Given the description of an element on the screen output the (x, y) to click on. 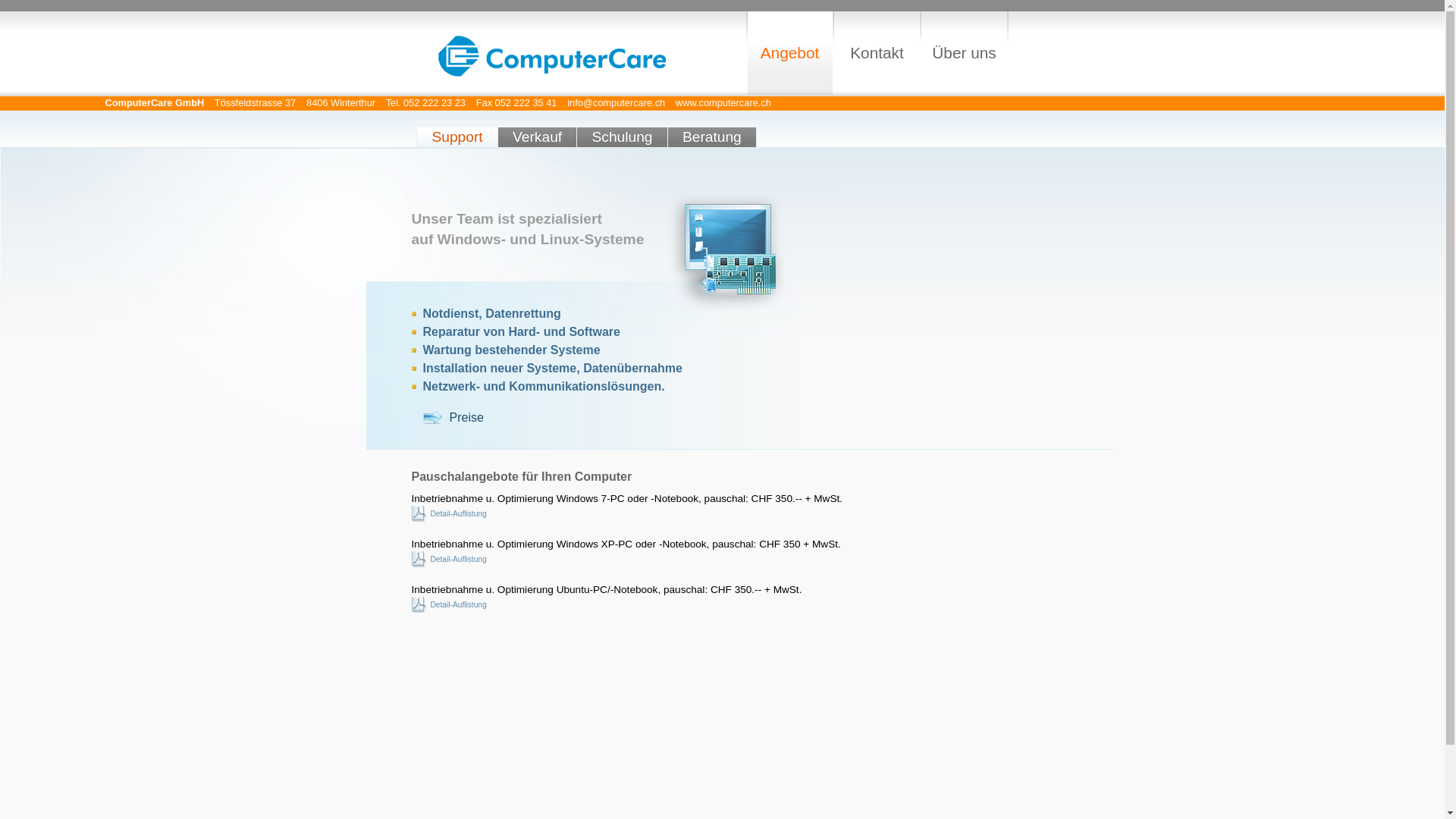
Angebot Element type: text (789, 52)
Support Element type: text (457, 137)
info@computercare.ch Element type: text (614, 102)
Kontakt Element type: text (876, 52)
Detail-Auflistung Element type: text (448, 604)
Verkauf Element type: text (537, 137)
Preise Element type: text (453, 417)
Schulung Element type: text (621, 137)
Detail-Auflistung Element type: text (448, 559)
Detail-Auflistung Element type: text (448, 513)
Beratung Element type: text (712, 137)
